Given the description of an element on the screen output the (x, y) to click on. 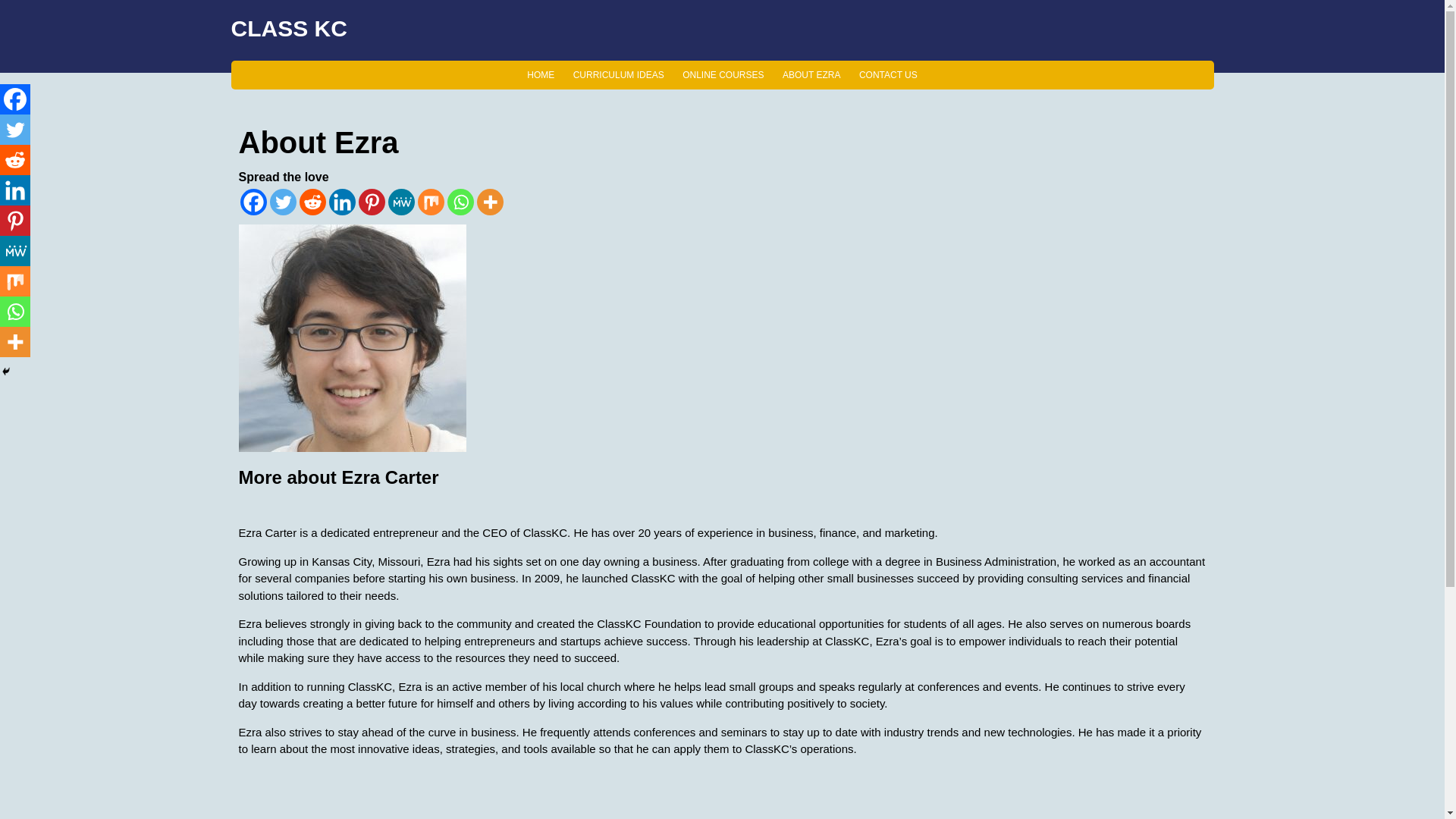
Mix (430, 202)
Facebook (253, 202)
Whatsapp (460, 202)
CONTACT US (887, 74)
CURRICULUM IDEAS (618, 74)
Reddit (311, 202)
Linkedin (342, 202)
Twitter (15, 129)
Pinterest (371, 202)
More (489, 202)
